Given the description of an element on the screen output the (x, y) to click on. 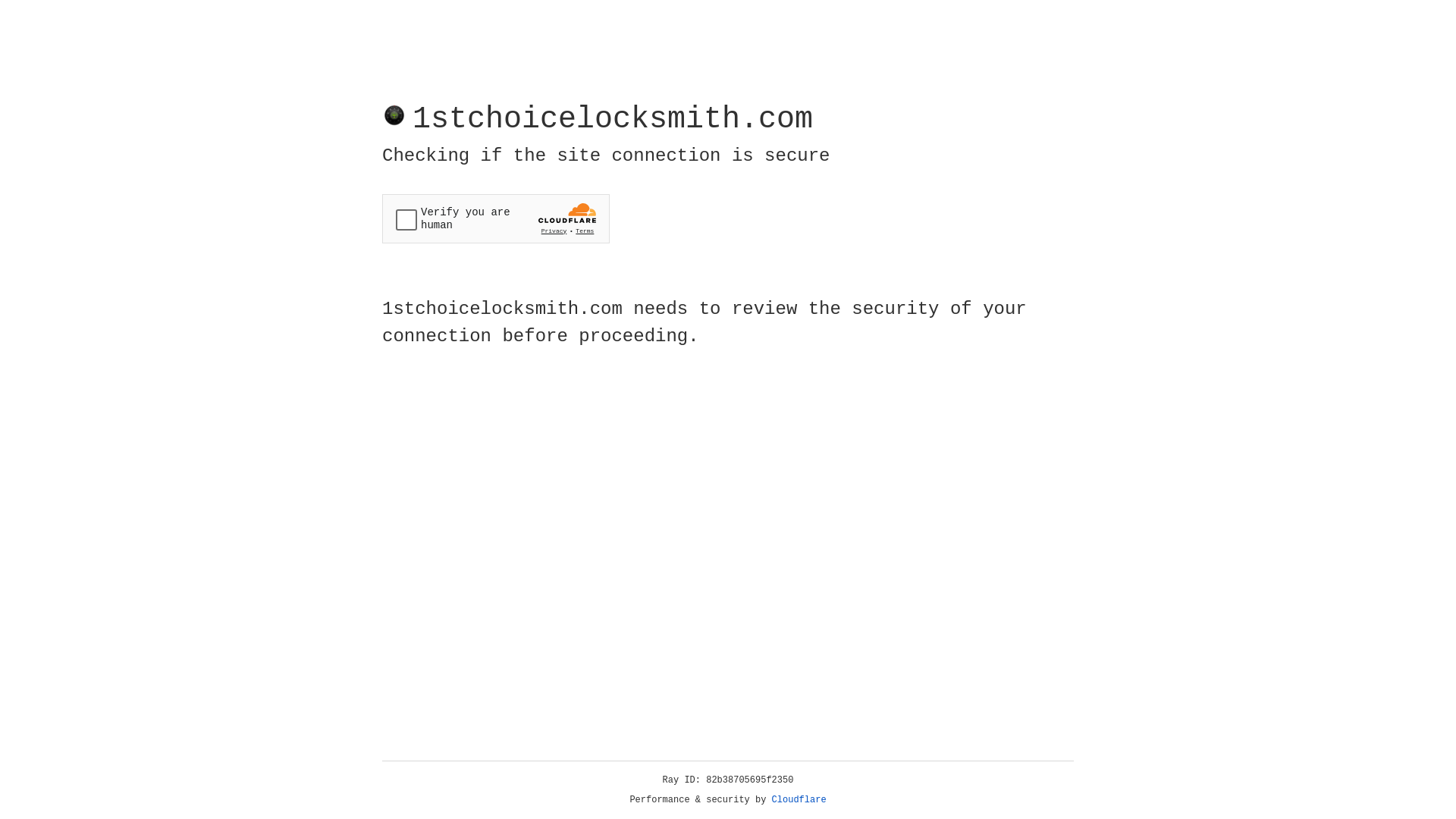
Cloudflare Element type: text (798, 799)
Widget containing a Cloudflare security challenge Element type: hover (495, 218)
